Given the description of an element on the screen output the (x, y) to click on. 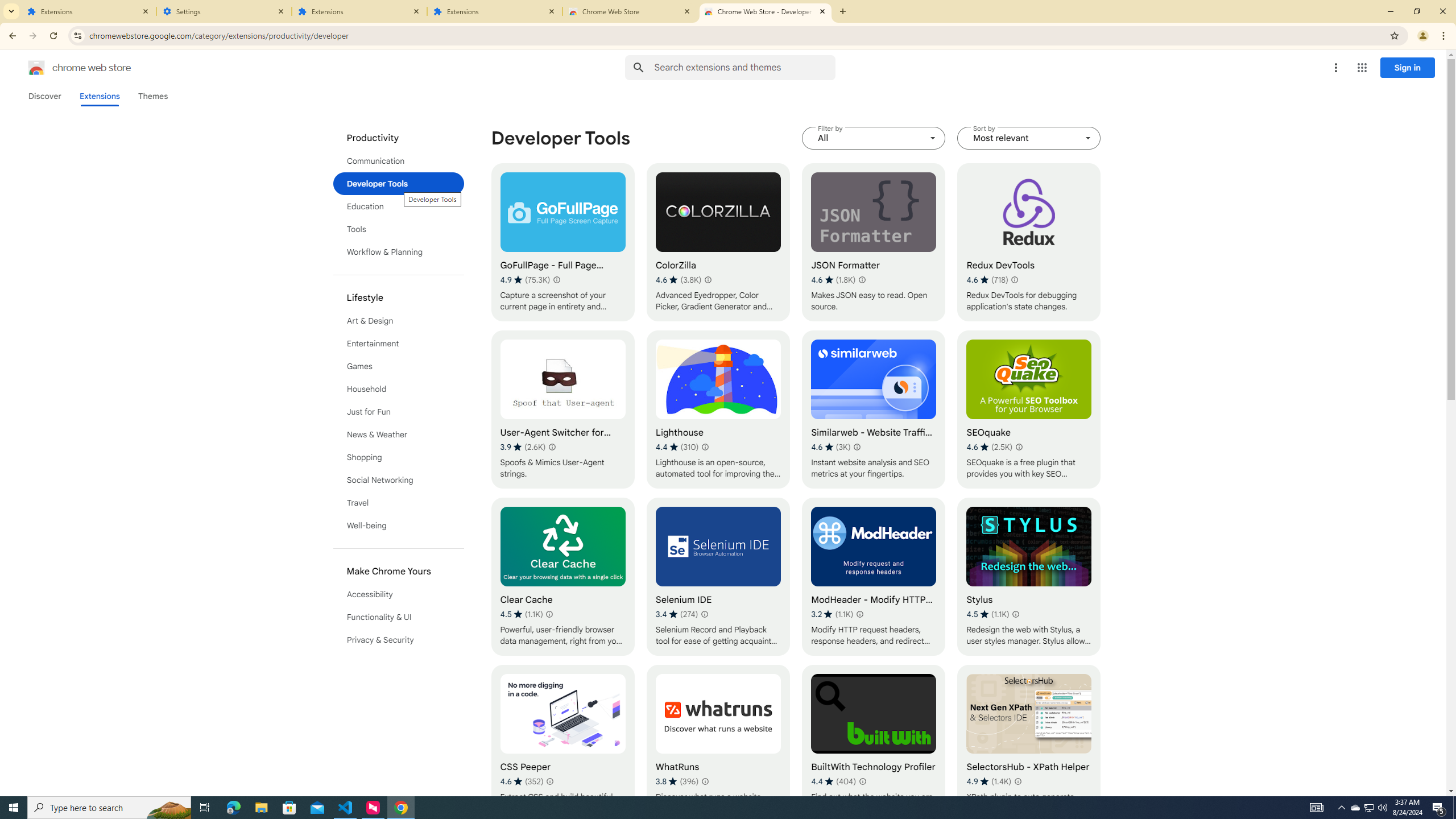
Discover (43, 95)
Average rating 4.9 out of 5 stars. 75.3K ratings. (524, 279)
Tools (398, 228)
Developer Tools (selected) (398, 182)
Communication (398, 160)
Average rating 4.6 out of 5 stars. 2.5K ratings. (989, 446)
Workflow & Planning (398, 251)
ModHeader - Modify HTTP headers (874, 576)
Average rating 3.4 out of 5 stars. 274 ratings. (676, 613)
News & Weather (398, 434)
Games (398, 365)
